Given the description of an element on the screen output the (x, y) to click on. 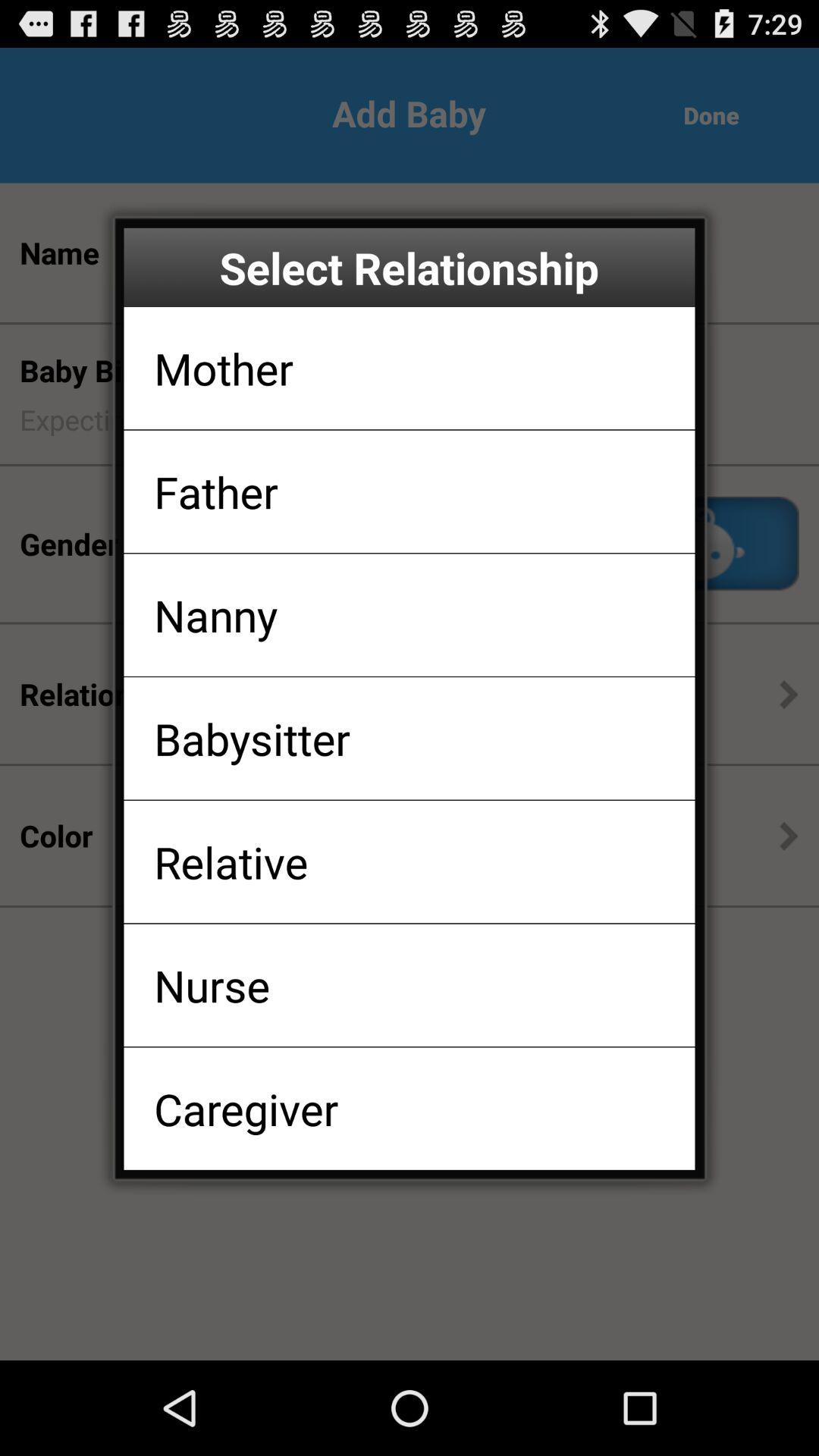
launch the babysitter app (252, 738)
